Given the description of an element on the screen output the (x, y) to click on. 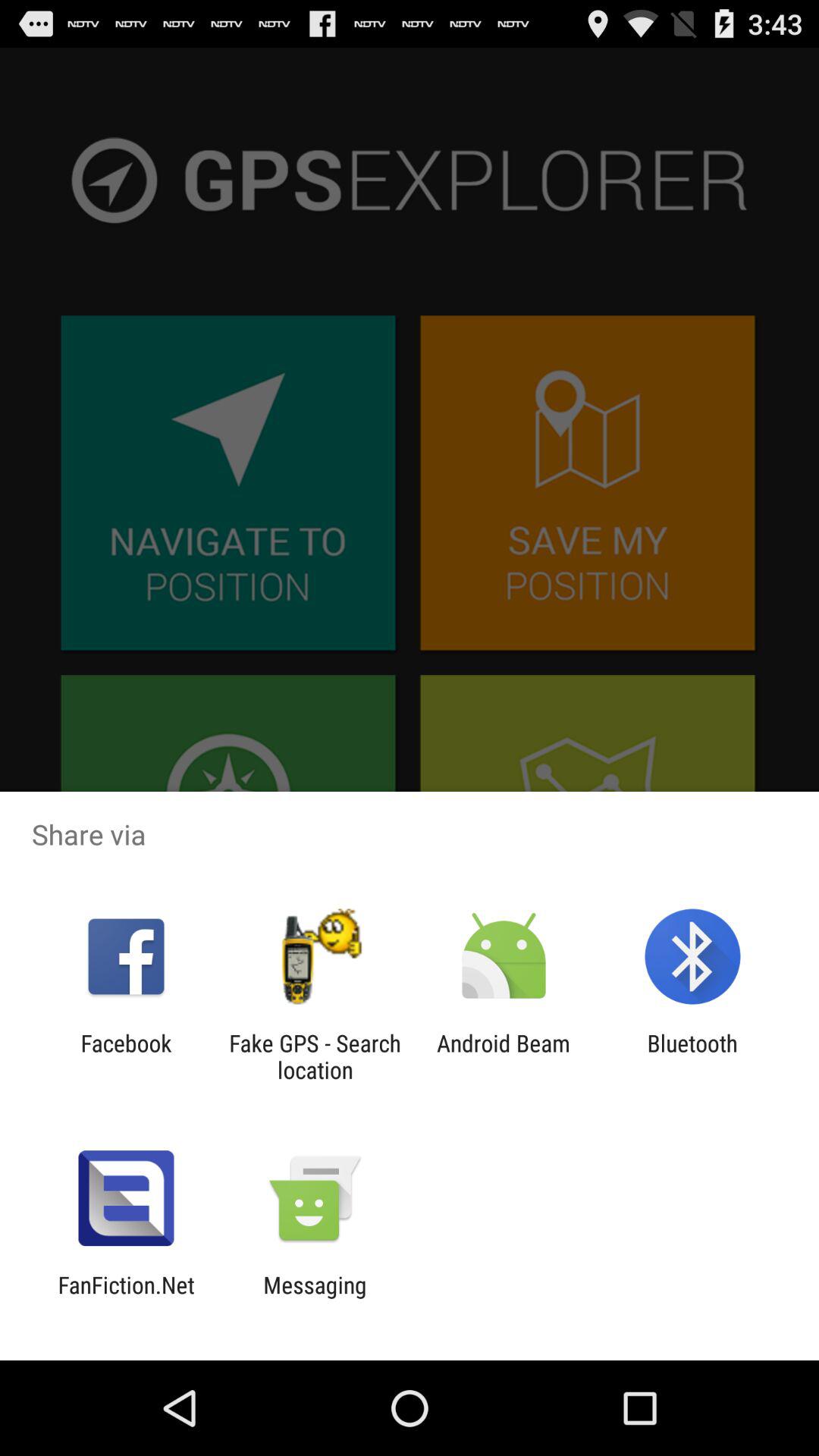
select the item to the left of bluetooth (503, 1056)
